Given the description of an element on the screen output the (x, y) to click on. 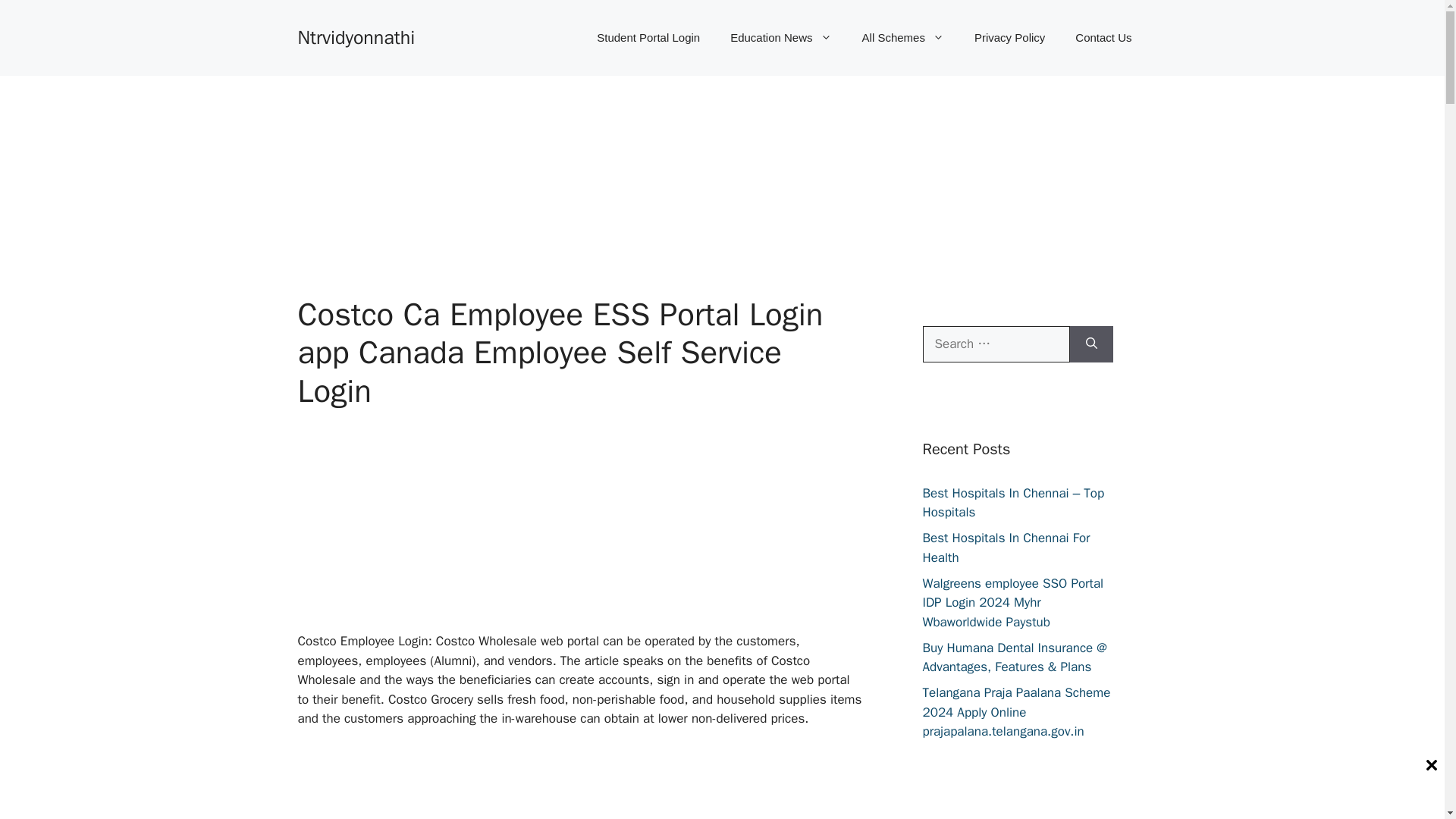
Ntrvidyonnathi (355, 37)
Search for: (994, 343)
All Schemes (903, 37)
Education News (779, 37)
Privacy Policy (1009, 37)
Student Portal Login (647, 37)
Contact Us (1103, 37)
